Given the description of an element on the screen output the (x, y) to click on. 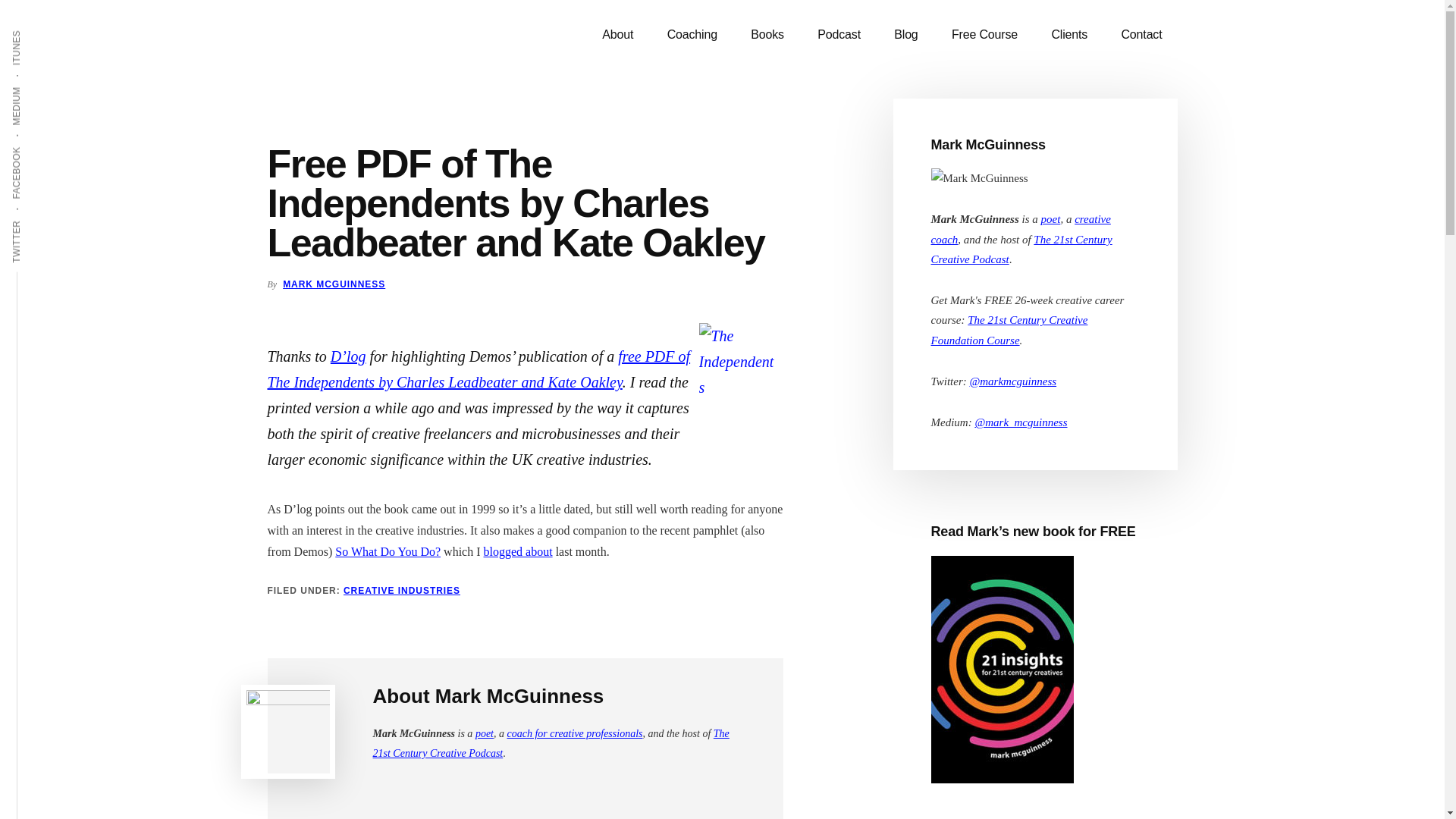
Clients (1068, 34)
MEDIUM (36, 84)
poet (1051, 218)
Books (767, 34)
free PDF of (653, 356)
The Independents (320, 381)
Free Course (984, 34)
Podcast (839, 34)
blogged about (518, 551)
